Given the description of an element on the screen output the (x, y) to click on. 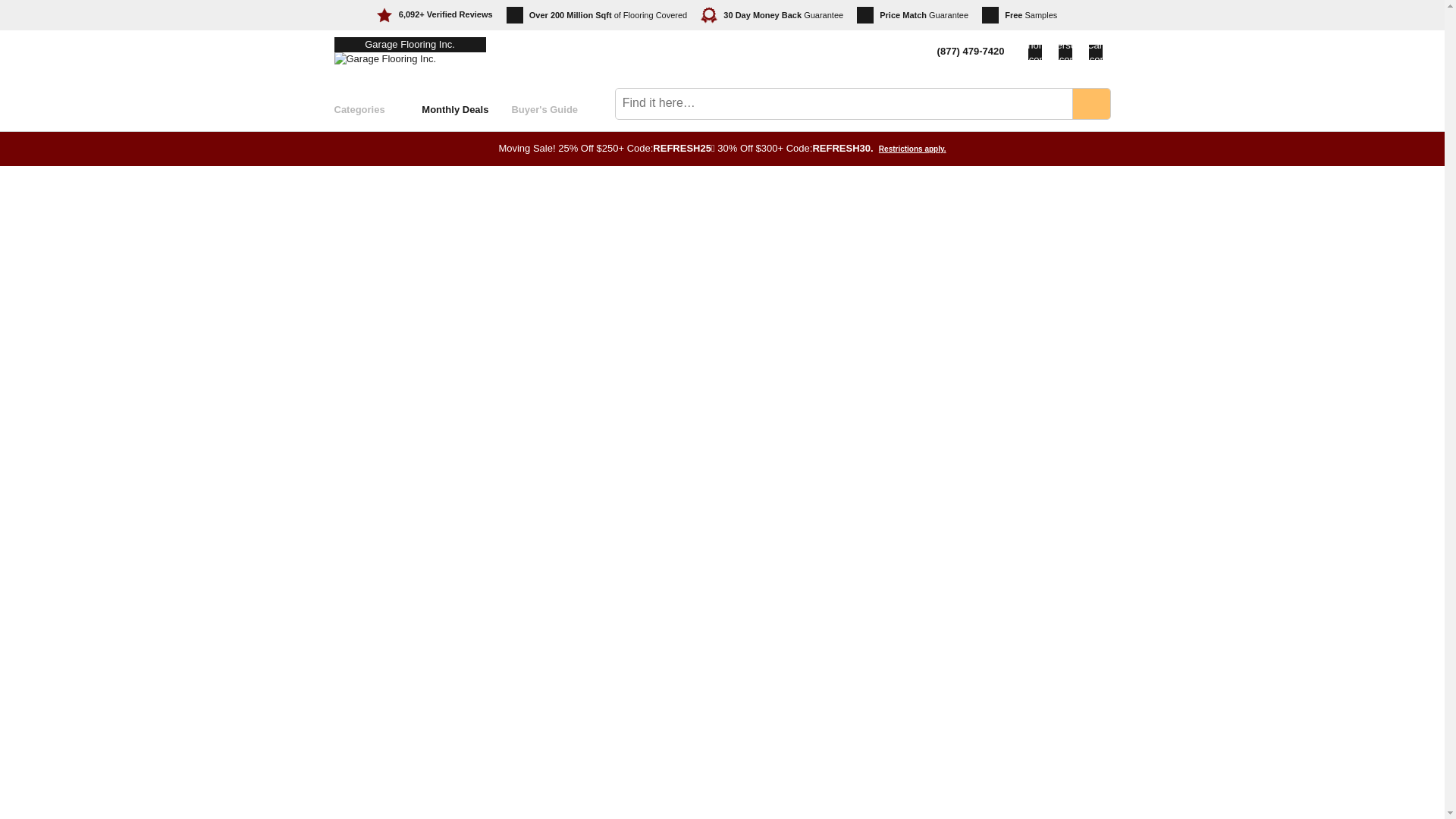
30 Day Money Back Guarantee (771, 14)
Free Samples (1019, 14)
square feet (603, 14)
Price Match Guarantee (912, 14)
Search (1090, 103)
Categories (377, 109)
